Given the description of an element on the screen output the (x, y) to click on. 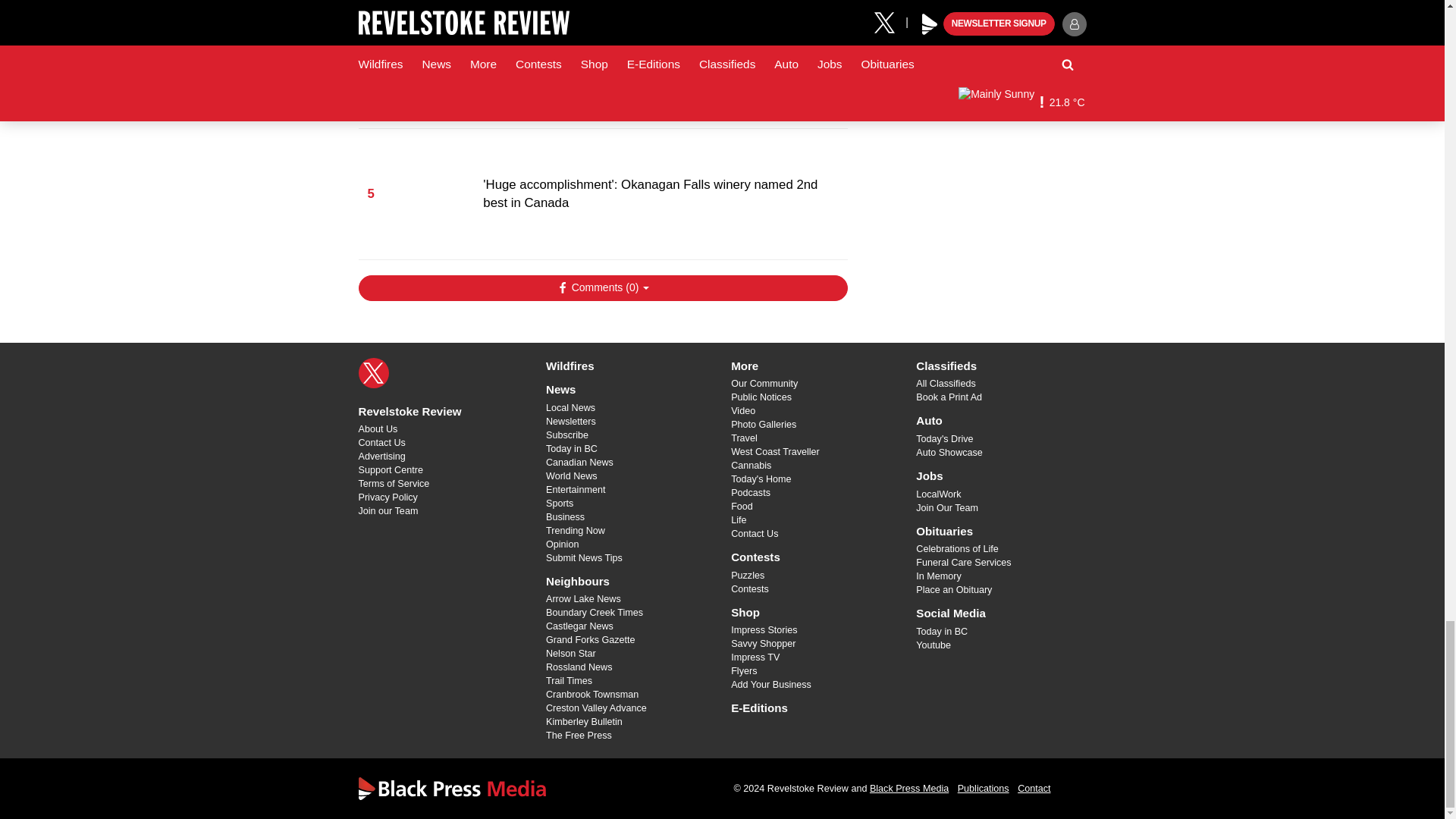
X (373, 372)
Show Comments (602, 288)
